Given the description of an element on the screen output the (x, y) to click on. 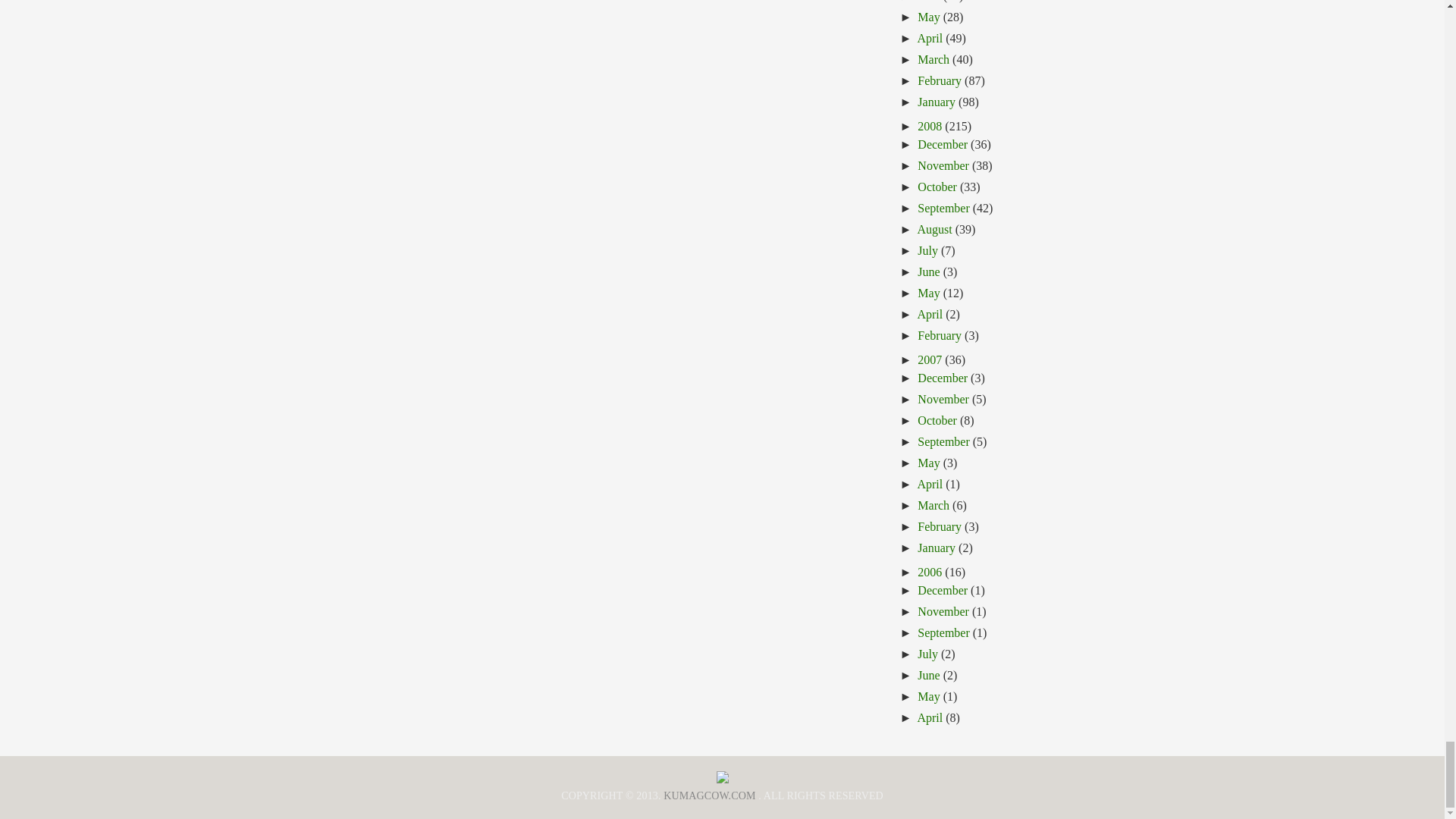
KUMAGCOW.COM (709, 795)
